Given the description of an element on the screen output the (x, y) to click on. 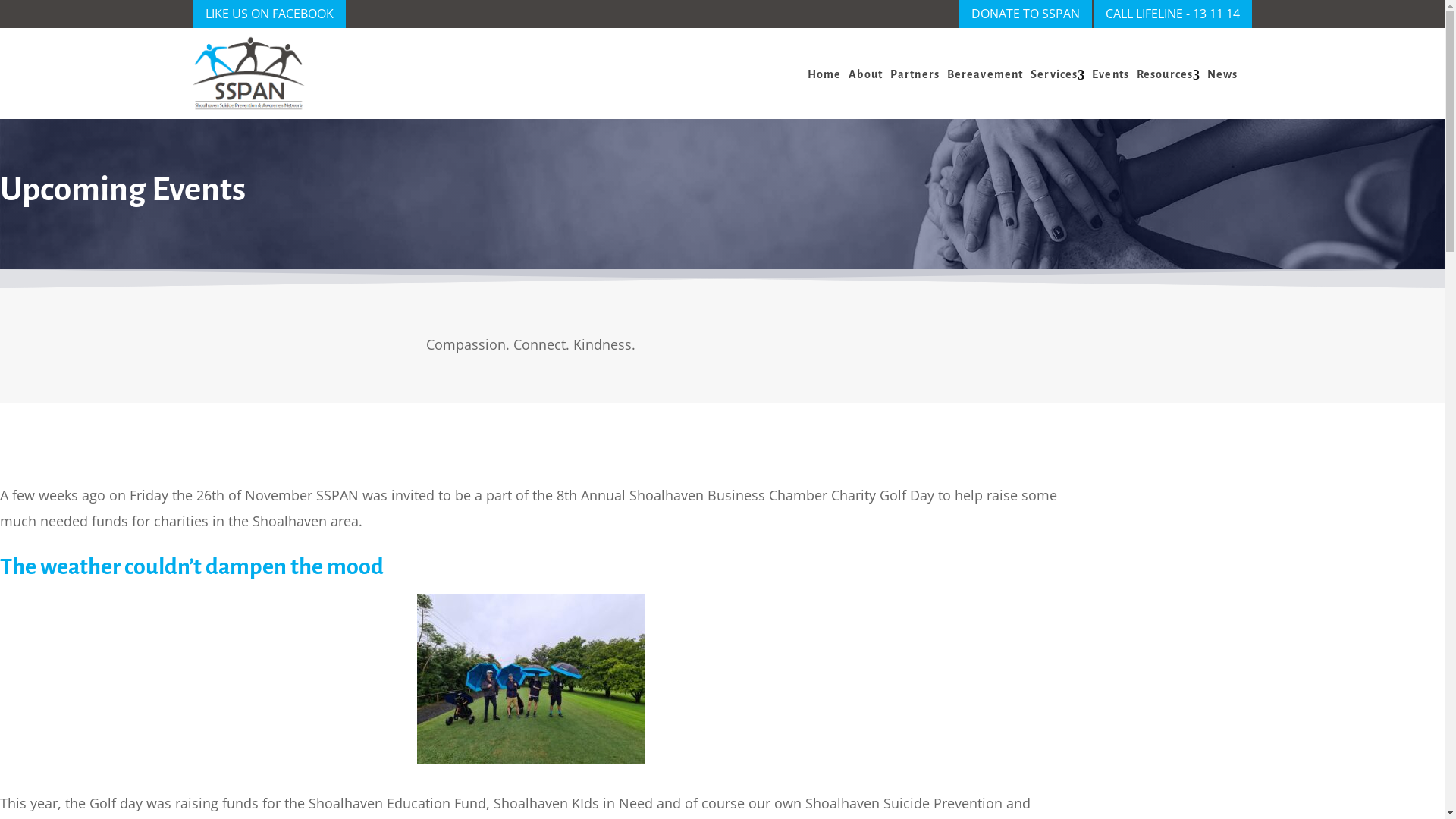
Resources Element type: text (1164, 74)
Bereavement Element type: text (984, 74)
Services Element type: text (1053, 74)
News Element type: text (1222, 74)
CALL LIFELINE - 13 11 14 Element type: text (1172, 14)
Home Element type: text (823, 74)
About Element type: text (865, 74)
DONATE TO SSPAN Element type: text (1024, 14)
Events Element type: text (1110, 74)
LIKE US ON FACEBOOK Element type: text (268, 14)
Partners Element type: text (914, 74)
